Given the description of an element on the screen output the (x, y) to click on. 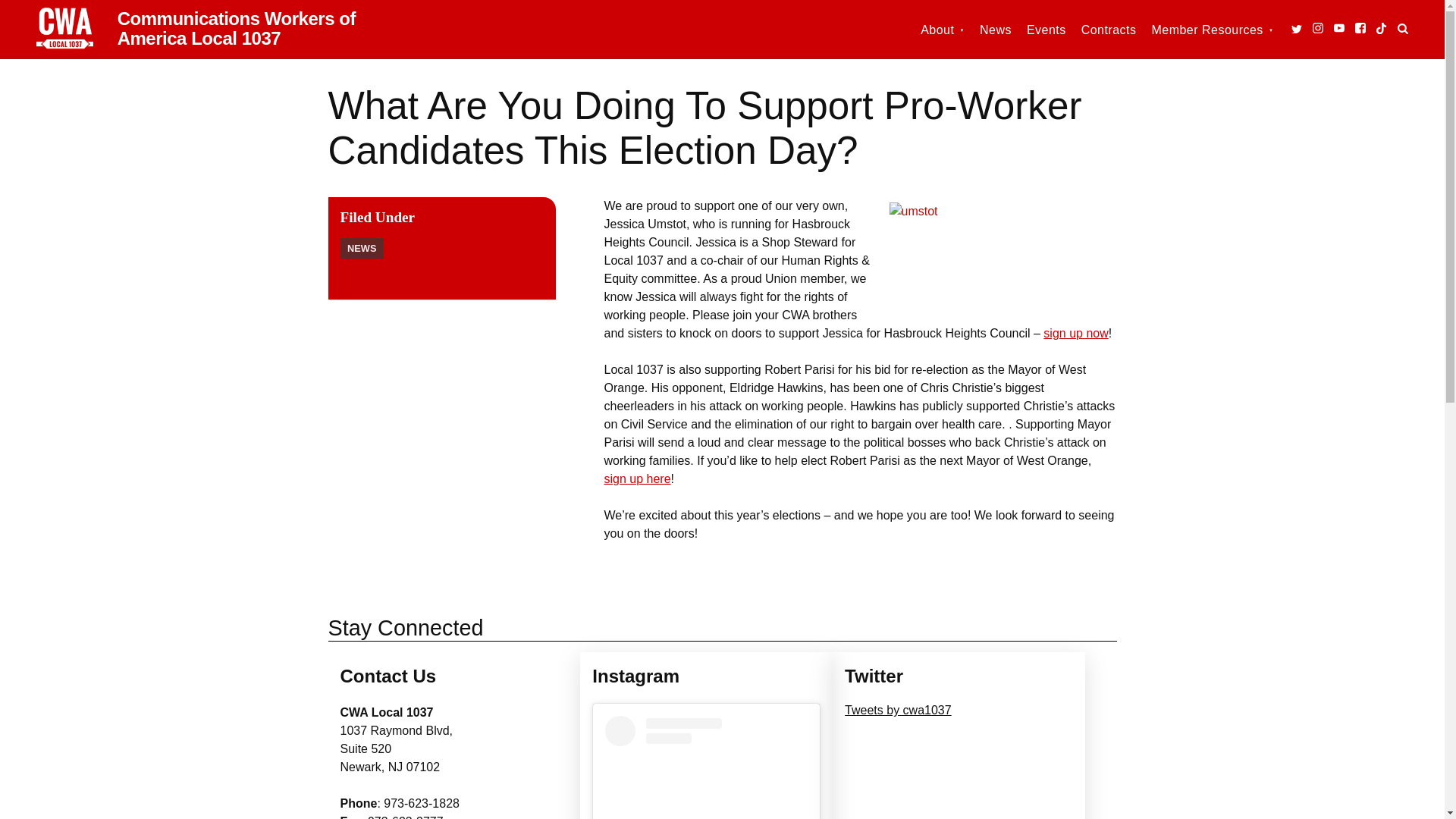
Tweets by cwa1037 (898, 709)
Events (1046, 29)
See other items in News Categories (361, 248)
Member Resources (1211, 29)
sign up now (1075, 332)
View this profile on Instagram (706, 767)
Instagram (1318, 27)
NEWS (361, 248)
News (995, 29)
sign up here (636, 478)
Communications Workers of America Local 1037 (236, 28)
Twitter (1296, 29)
Contracts (1109, 29)
Search (1402, 27)
